Given the description of an element on the screen output the (x, y) to click on. 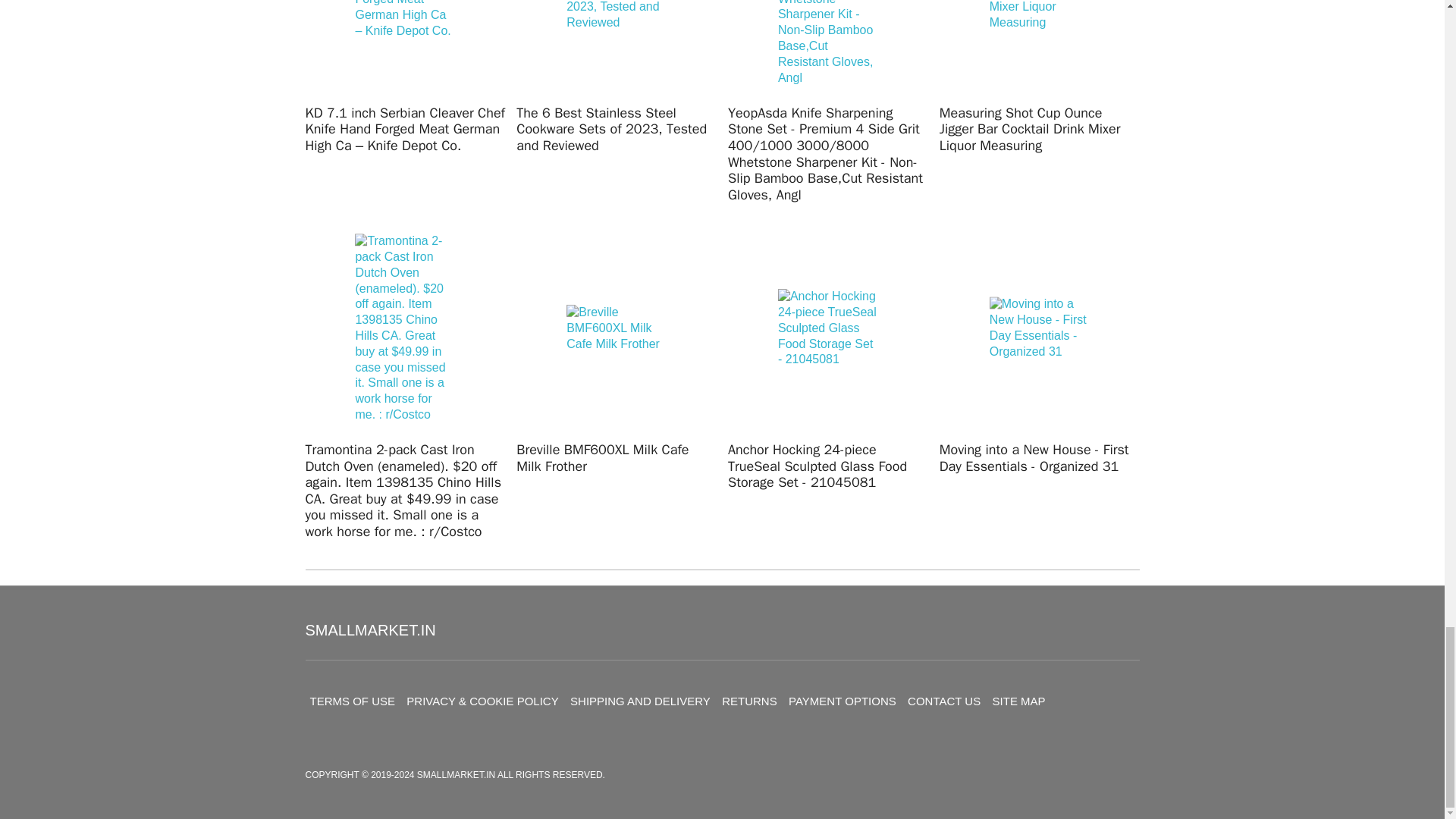
Breville BMF600XL Milk Cafe Milk Frother (616, 328)
